Given the description of an element on the screen output the (x, y) to click on. 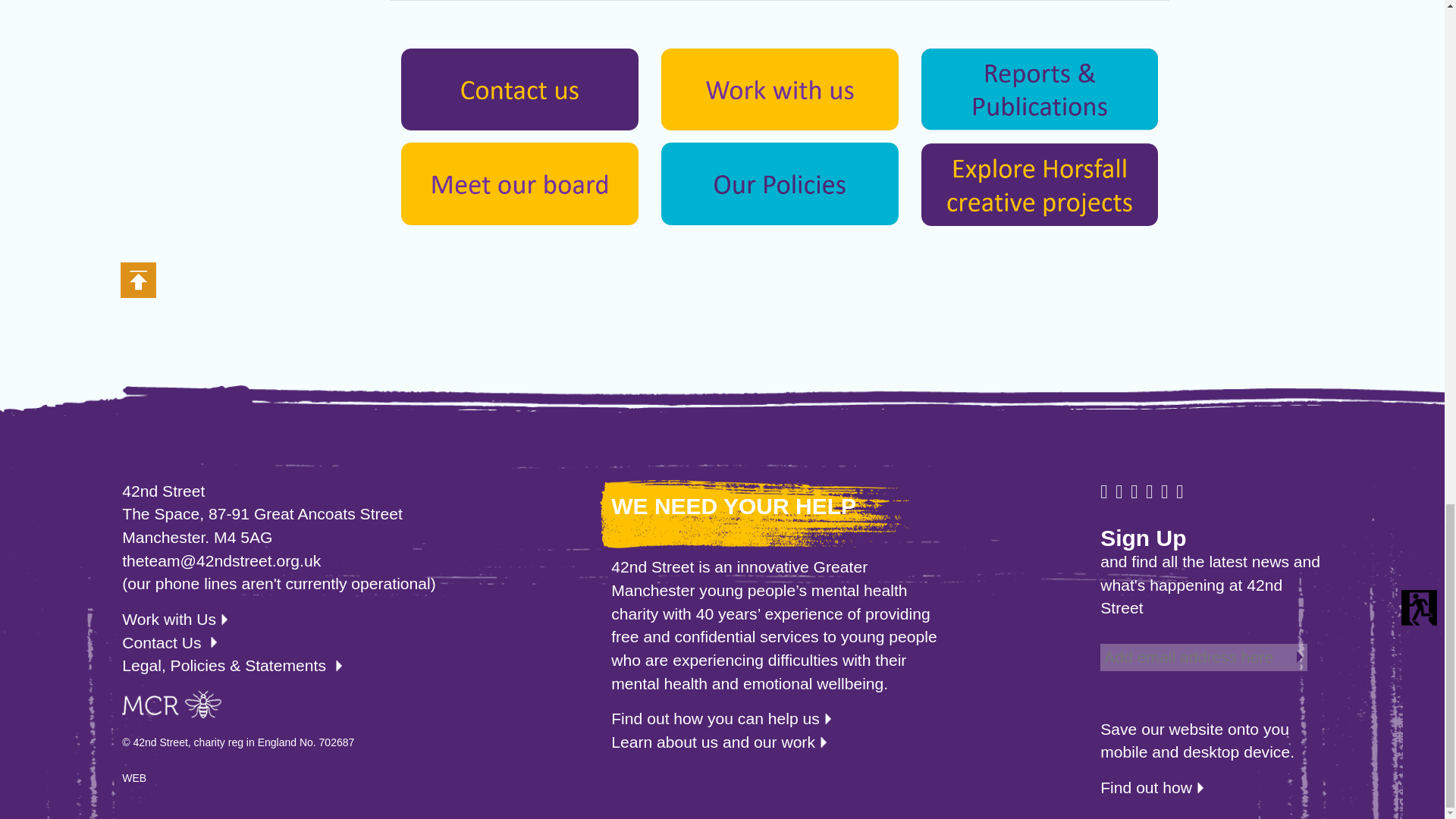
Work With Us (779, 87)
Publications and Reports (1039, 87)
Contact Us (520, 87)
